Given the description of an element on the screen output the (x, y) to click on. 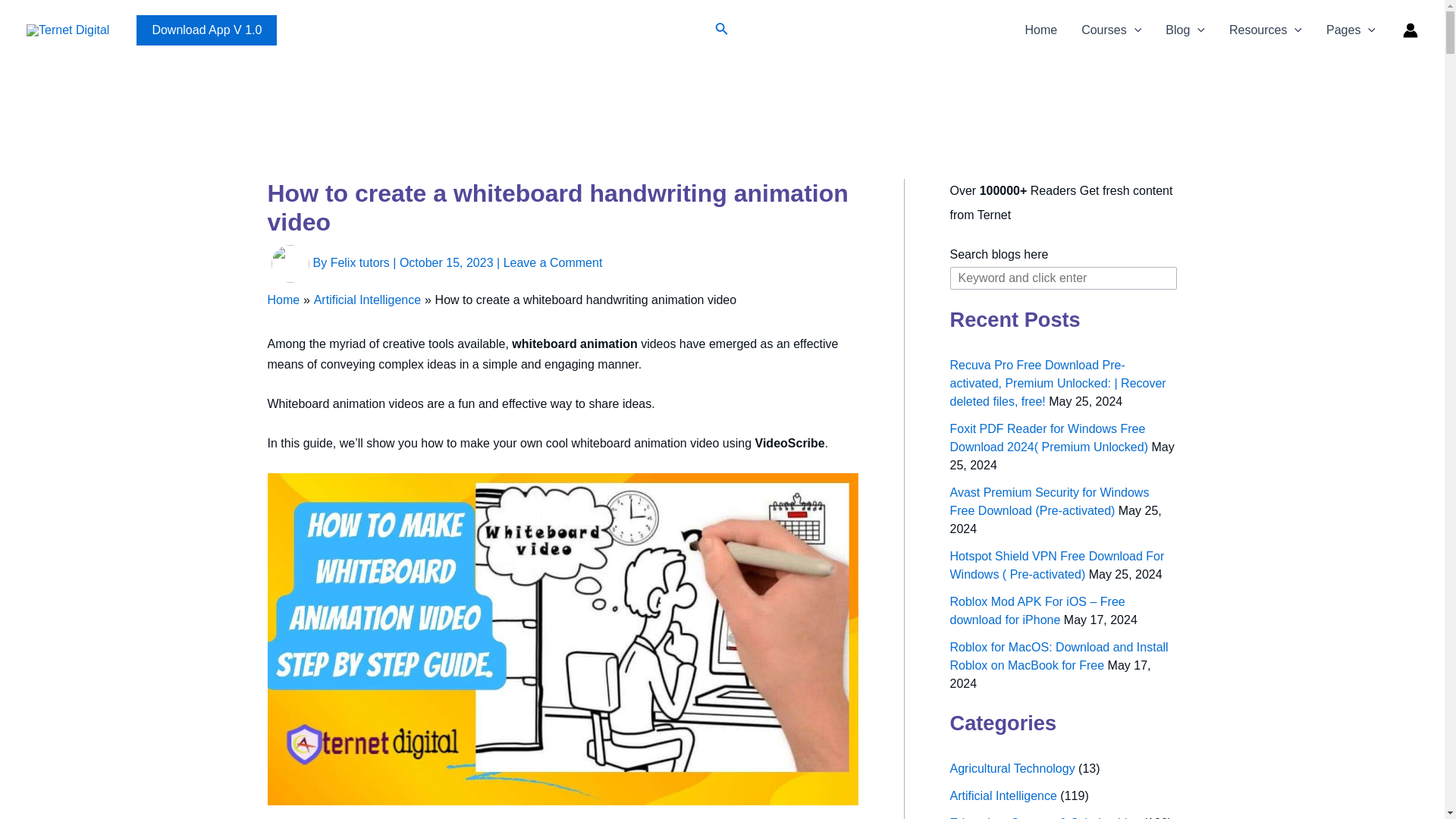
View all posts by Felix tutors (361, 262)
Resources (1265, 30)
Pages (1350, 30)
Home (1039, 30)
Courses (1110, 30)
Download App V 1.0 (206, 30)
Blog (1185, 30)
